Given the description of an element on the screen output the (x, y) to click on. 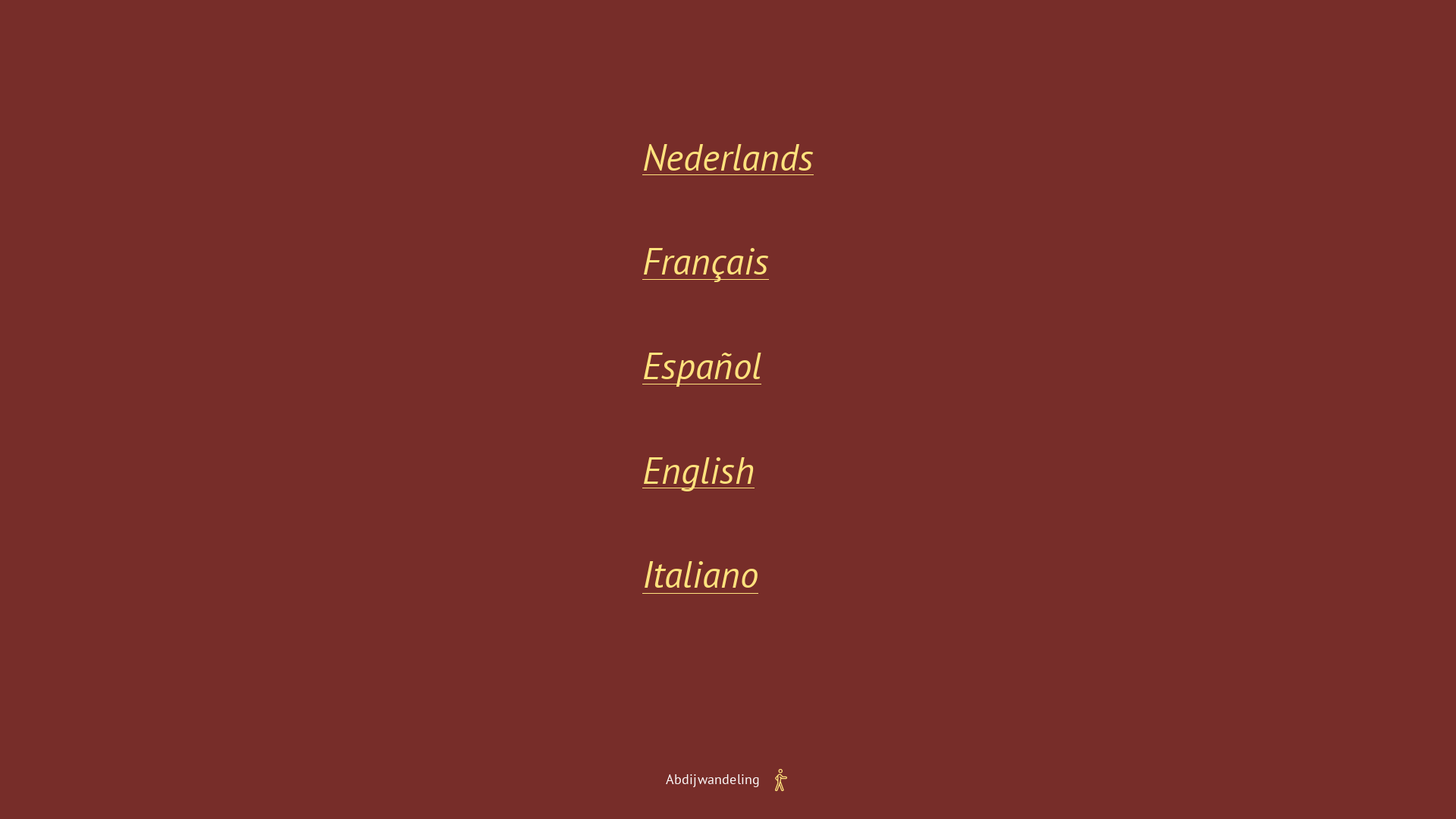
Nederlands Element type: text (727, 157)
Italiano Element type: text (700, 574)
English Element type: text (698, 470)
